Given the description of an element on the screen output the (x, y) to click on. 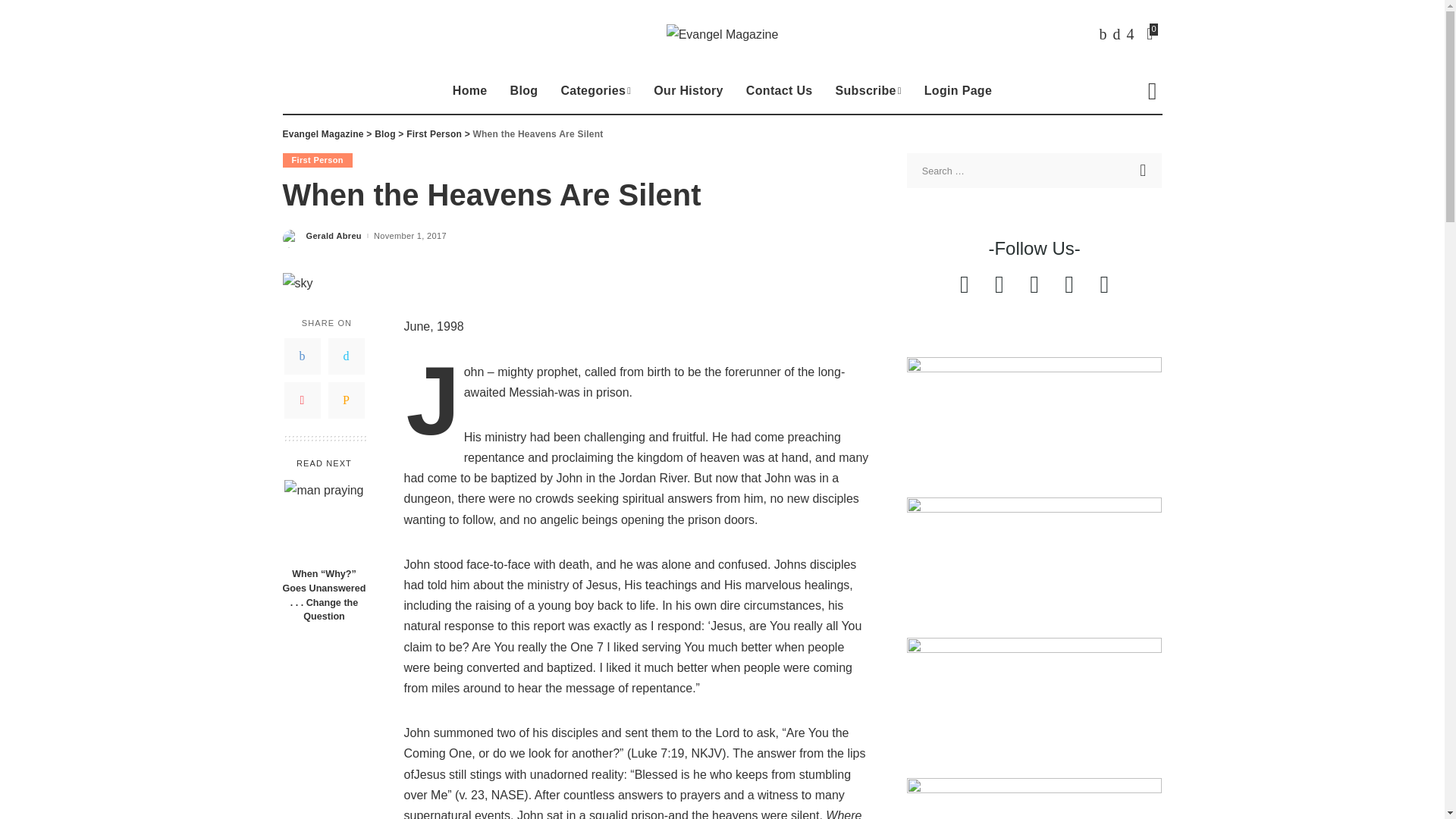
0 (1151, 34)
Go to Blog. (385, 133)
Go to the First Person Category archives. (433, 133)
Search (1143, 170)
Search (1151, 90)
Search (1143, 170)
Bookmarks (1151, 34)
Home (470, 90)
Go to Evangel Magazine. (322, 133)
Instagram (1129, 34)
Facebook (1102, 34)
Evangel Magazine (722, 34)
Twitter (1115, 34)
